Given the description of an element on the screen output the (x, y) to click on. 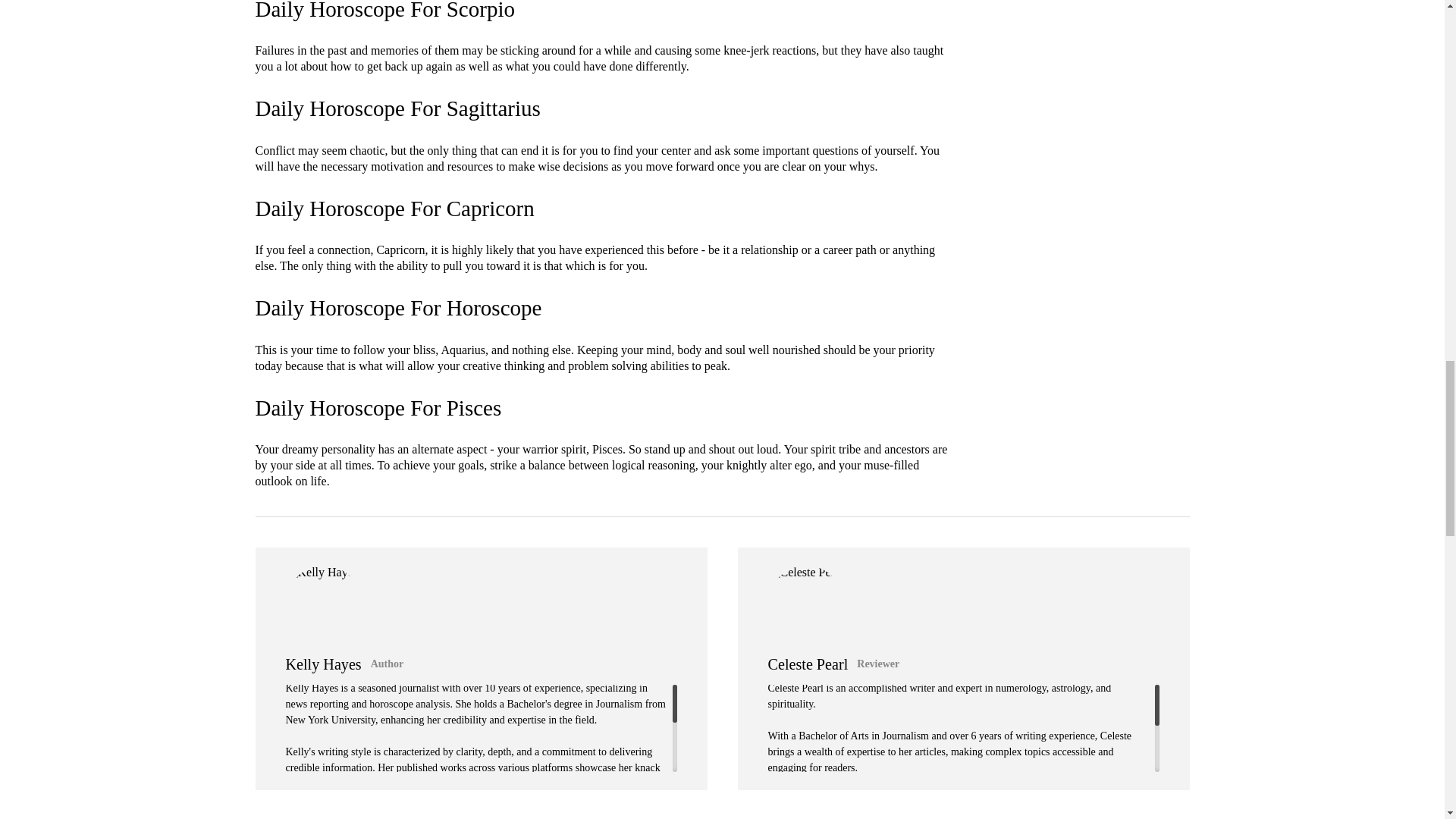
Daily Horoscope For Horoscope (397, 307)
Daily Horoscope For Capricorn (394, 208)
Daily Horoscope For Pisces (377, 407)
Daily Horoscope For Sagittarius (397, 108)
Daily Horoscope For Scorpio (384, 10)
